Given the description of an element on the screen output the (x, y) to click on. 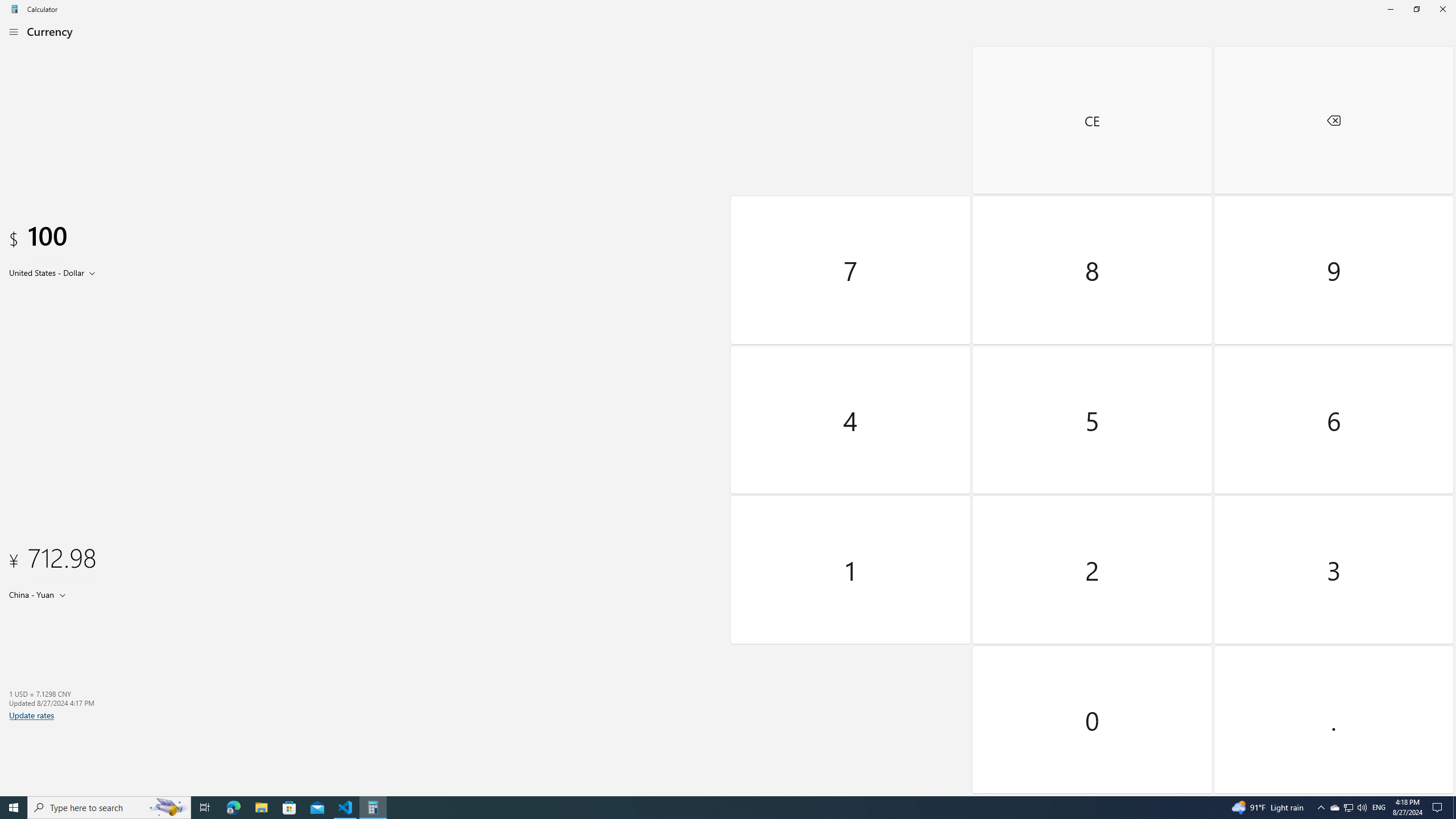
Seven (850, 269)
Restore Calculator (1416, 9)
United States Dollar (45, 272)
One (850, 569)
China Yuan (31, 593)
